Given the description of an element on the screen output the (x, y) to click on. 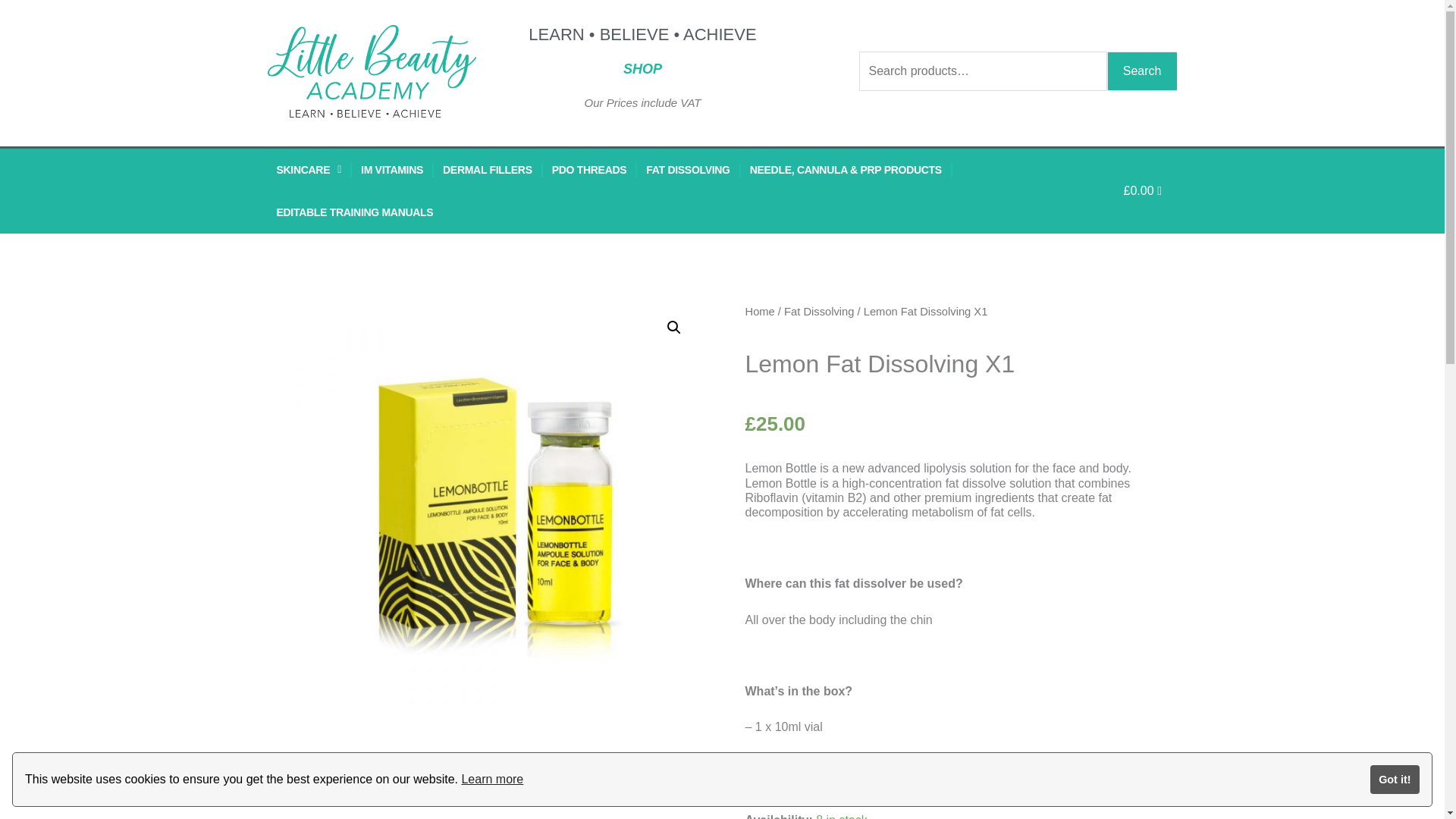
Learn more (491, 779)
SKINCARE (308, 169)
FAT DISSOLVING (687, 169)
IM VITAMINS (392, 169)
DERMAL FILLERS (487, 169)
PDO THREADS (589, 169)
Search (1141, 70)
Home (759, 311)
Got it! (1394, 778)
Fat Dissolving (818, 311)
EDITABLE TRAINING MANUALS (354, 211)
